Given the description of an element on the screen output the (x, y) to click on. 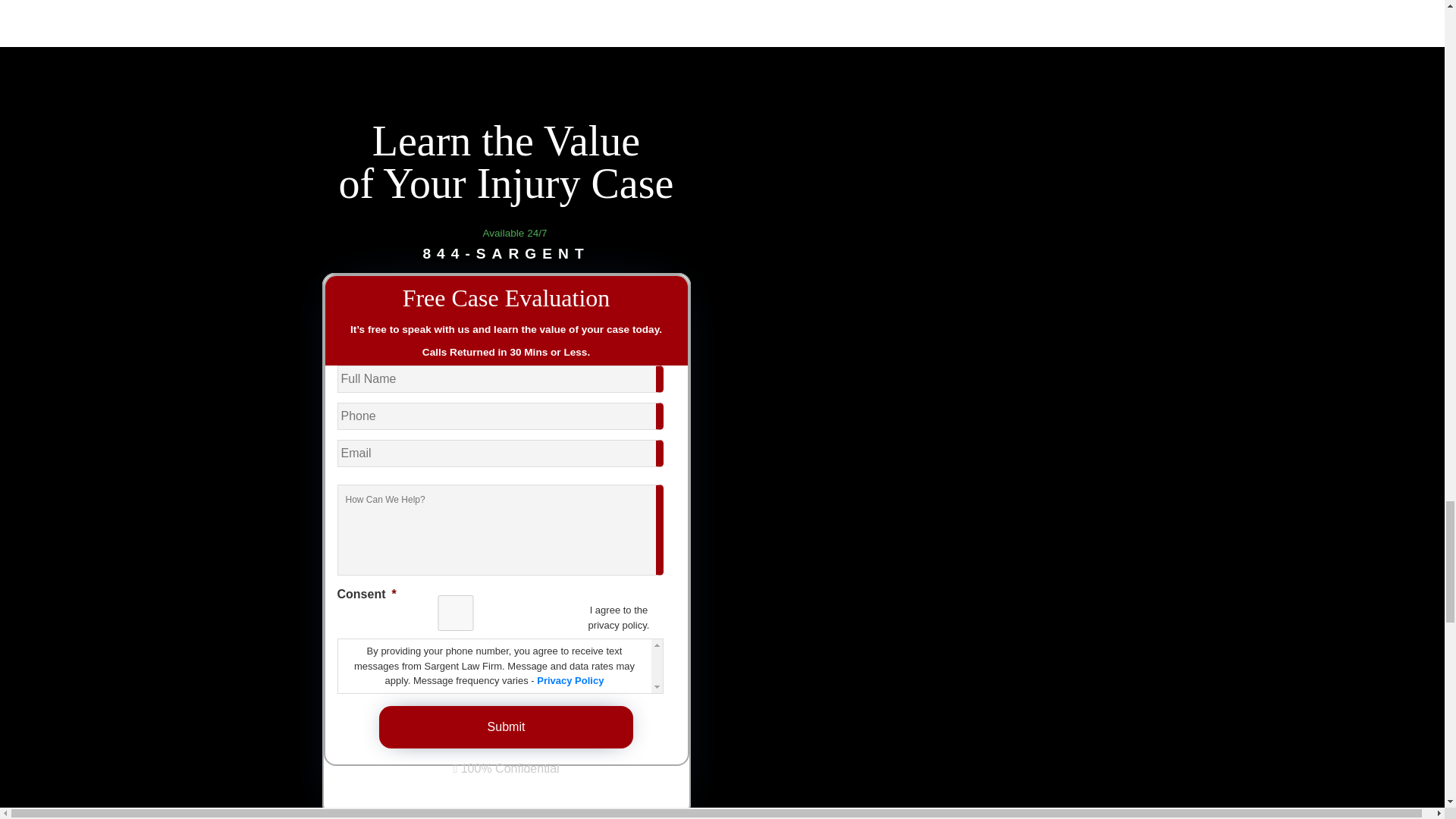
1 (454, 612)
